Given the description of an element on the screen output the (x, y) to click on. 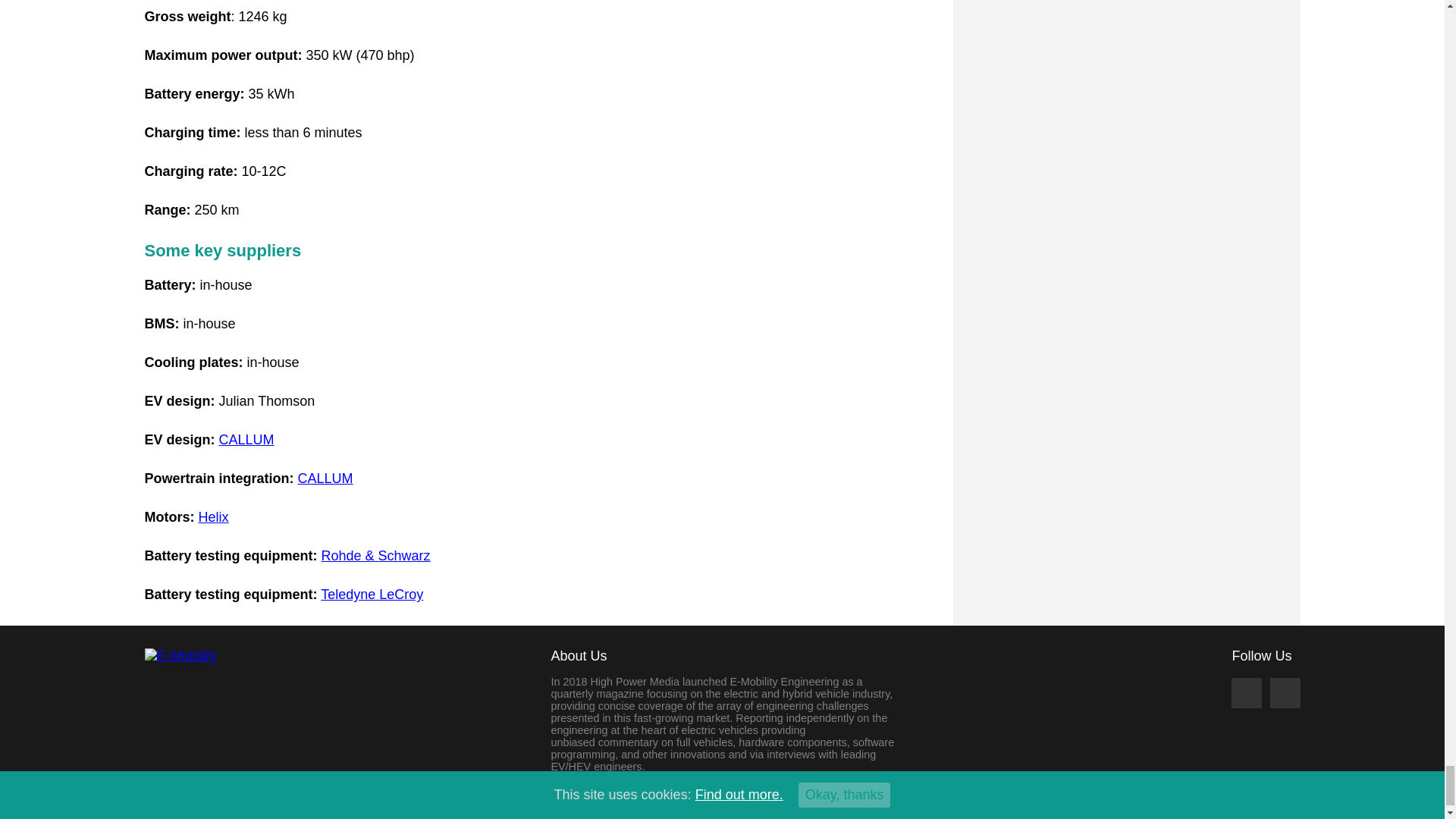
CALLUM (325, 478)
CALLUM (247, 439)
Helix (213, 516)
Teledyne LeCroy (371, 594)
